Given the description of an element on the screen output the (x, y) to click on. 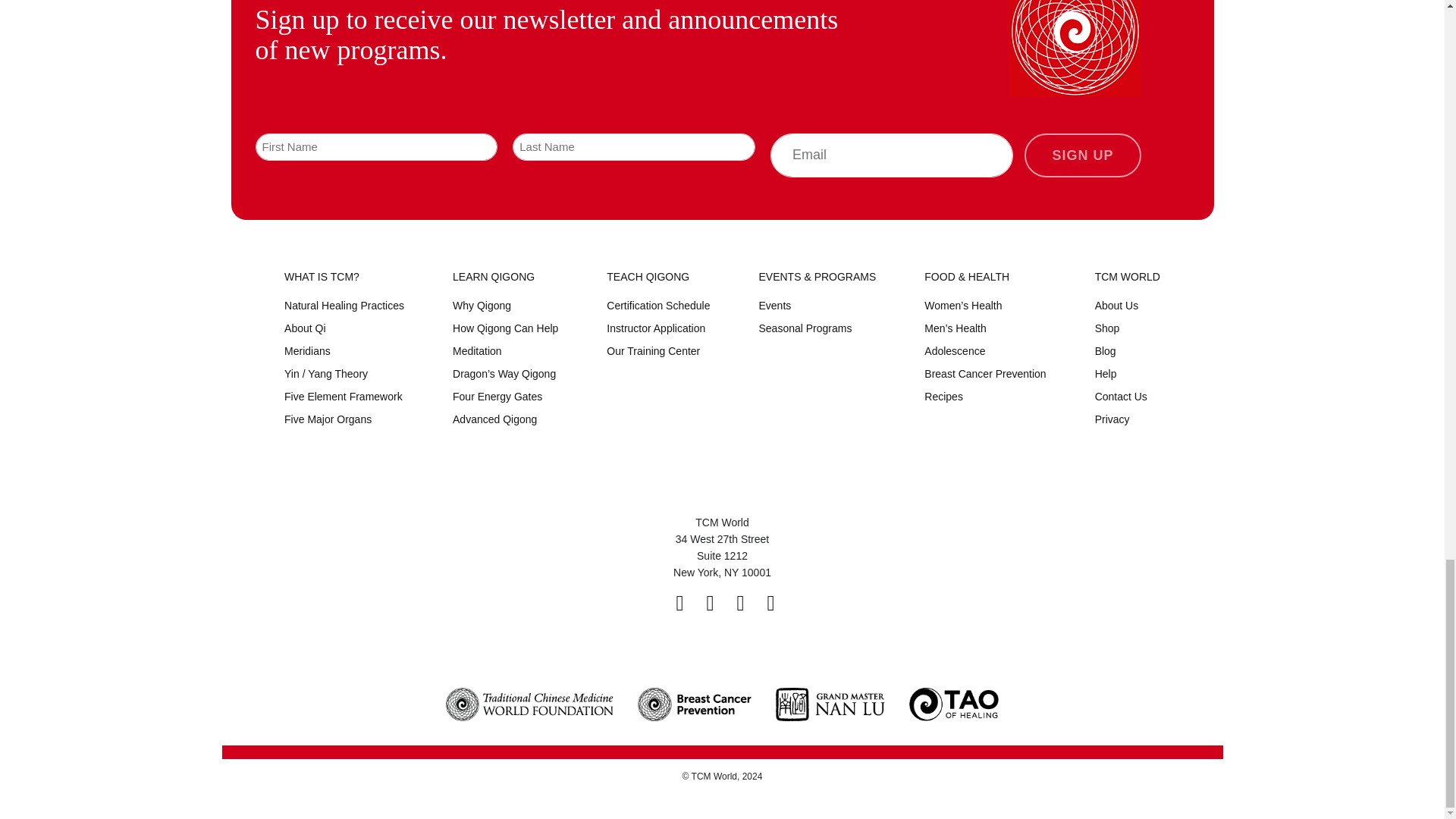
Sign up (1082, 155)
